Given the description of an element on the screen output the (x, y) to click on. 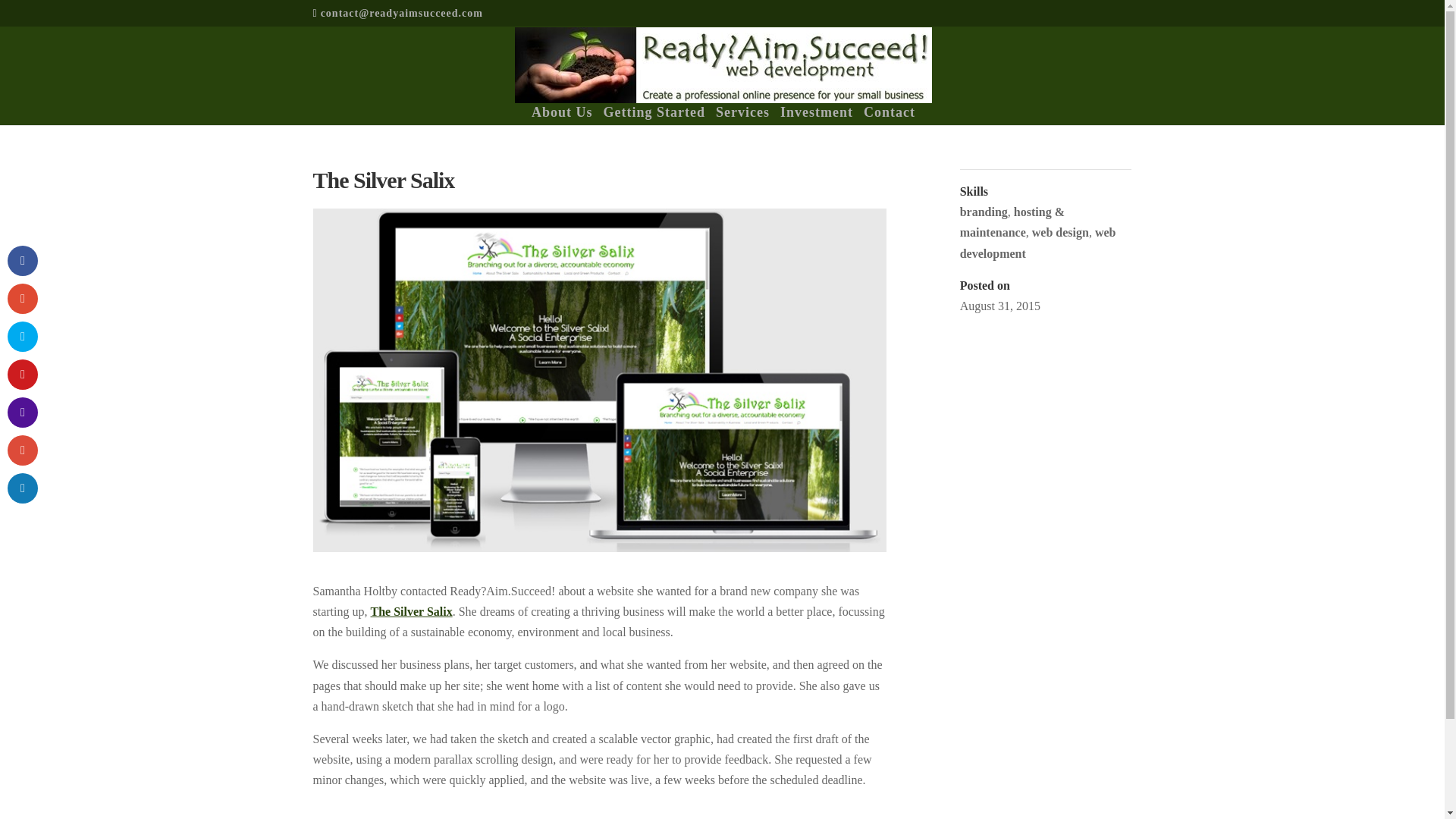
About Us (561, 114)
The Silver Salix (410, 611)
Getting Started (654, 114)
web development (1037, 242)
Investment (816, 114)
Contact (889, 114)
web design (1060, 232)
Services (743, 114)
branding (983, 211)
